Given the description of an element on the screen output the (x, y) to click on. 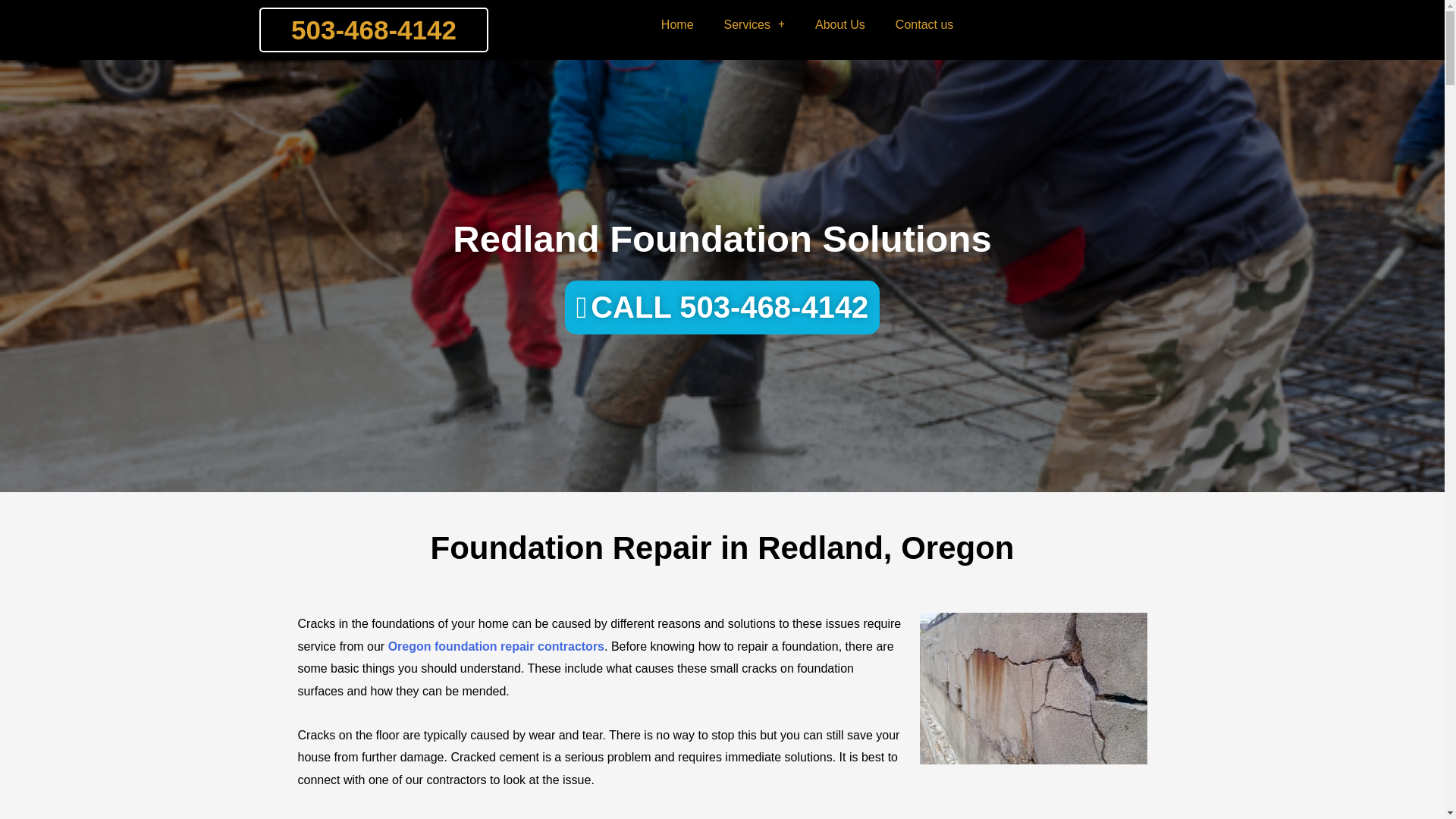
Contact us (924, 24)
About Us (839, 24)
Services (754, 24)
Home (677, 24)
503-468-4142 (373, 29)
CALL 503-468-4142 (722, 307)
Oregon foundation repair contractors (496, 645)
